Given the description of an element on the screen output the (x, y) to click on. 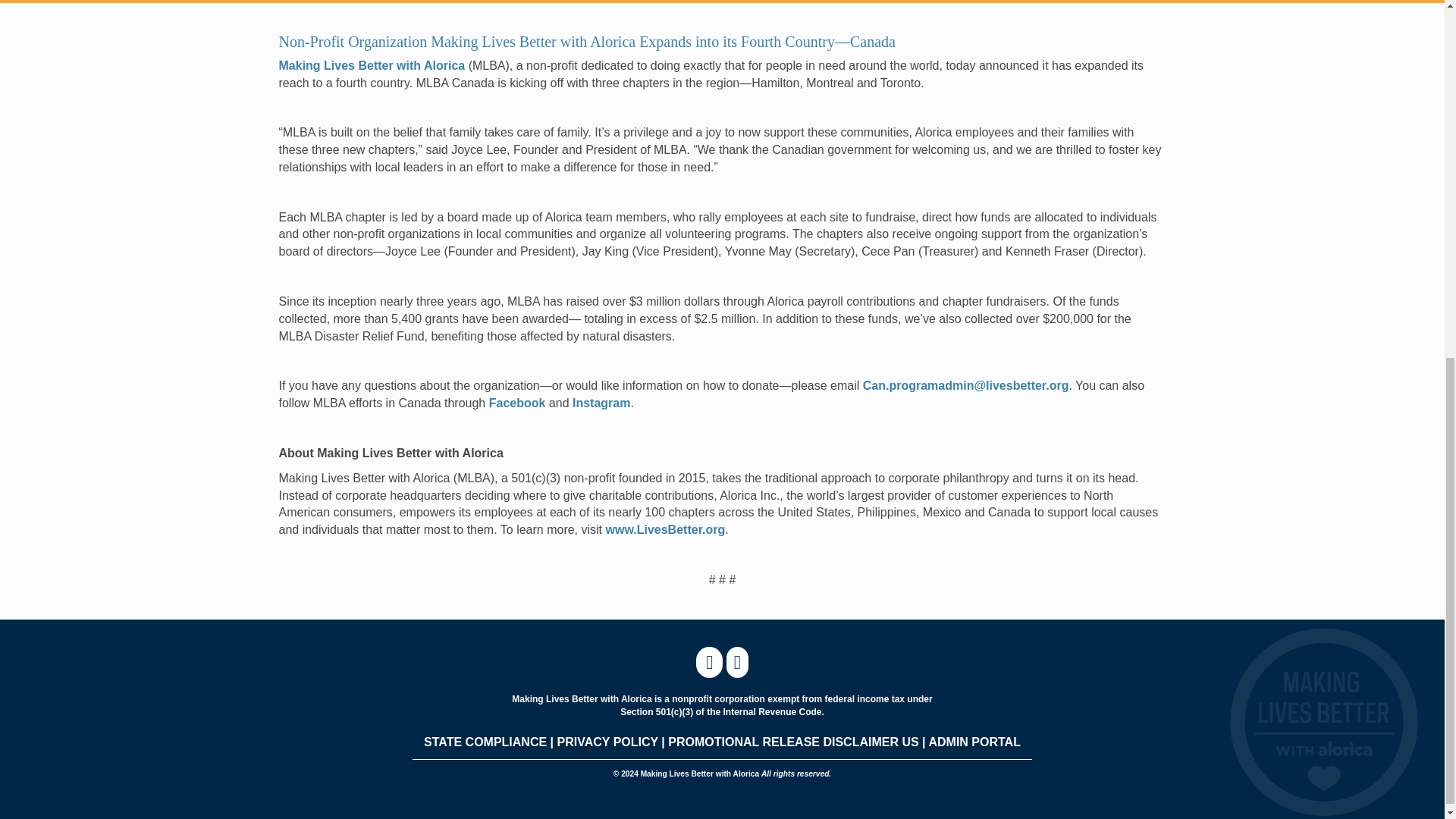
Facebook (517, 402)
Instagram (601, 402)
Making Lives Better with Alorica (372, 65)
www.LivesBetter.org (665, 529)
